Given the description of an element on the screen output the (x, y) to click on. 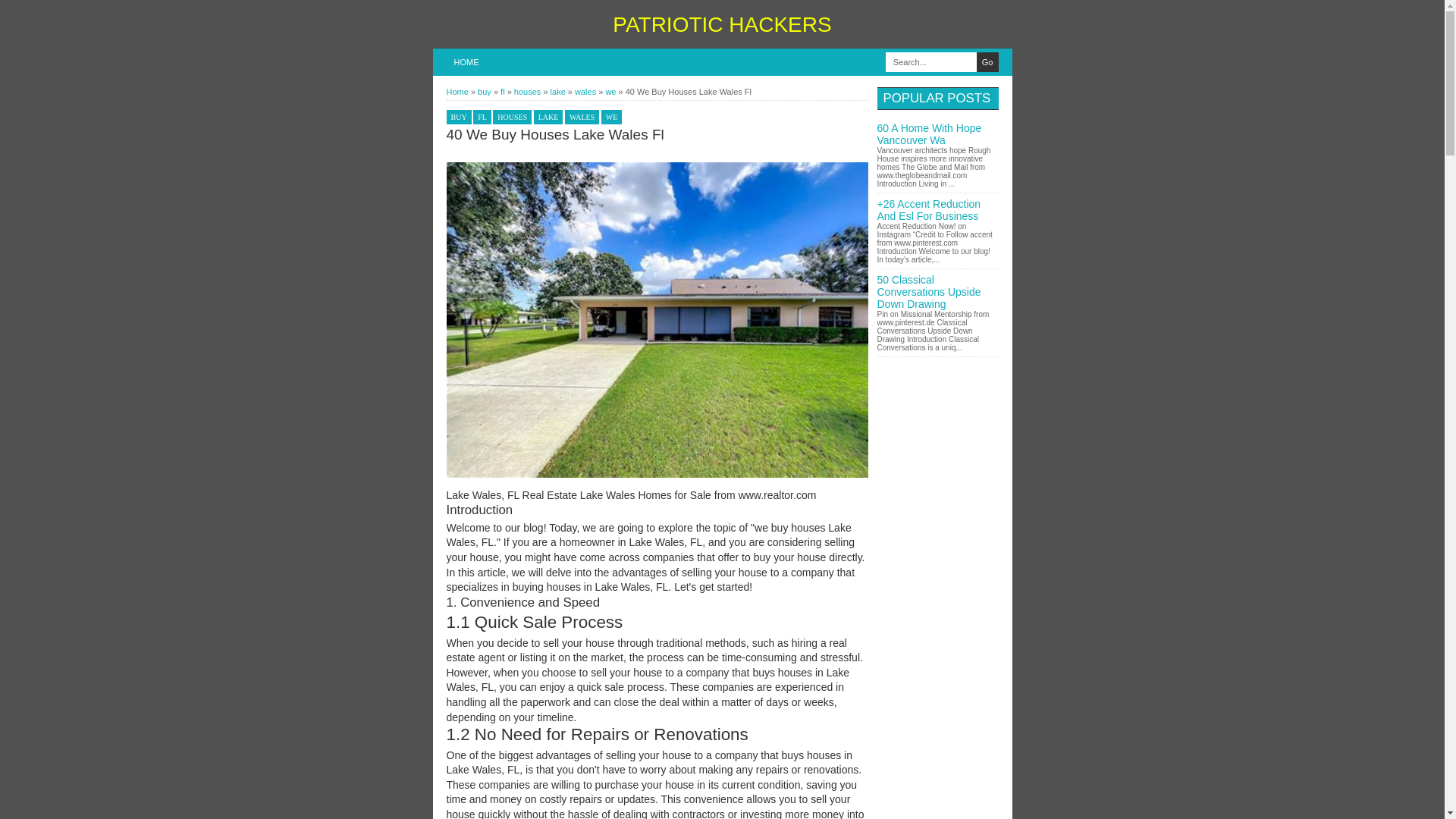
houses (528, 91)
wales (586, 91)
lake (558, 91)
60 A Home With Hope Vancouver Wa (928, 134)
buy (485, 91)
HOME (465, 61)
wales (586, 91)
WALES (581, 116)
Go (987, 62)
Search... (930, 62)
Home (456, 91)
we (611, 91)
houses (528, 91)
Go (987, 62)
buy (485, 91)
